Given the description of an element on the screen output the (x, y) to click on. 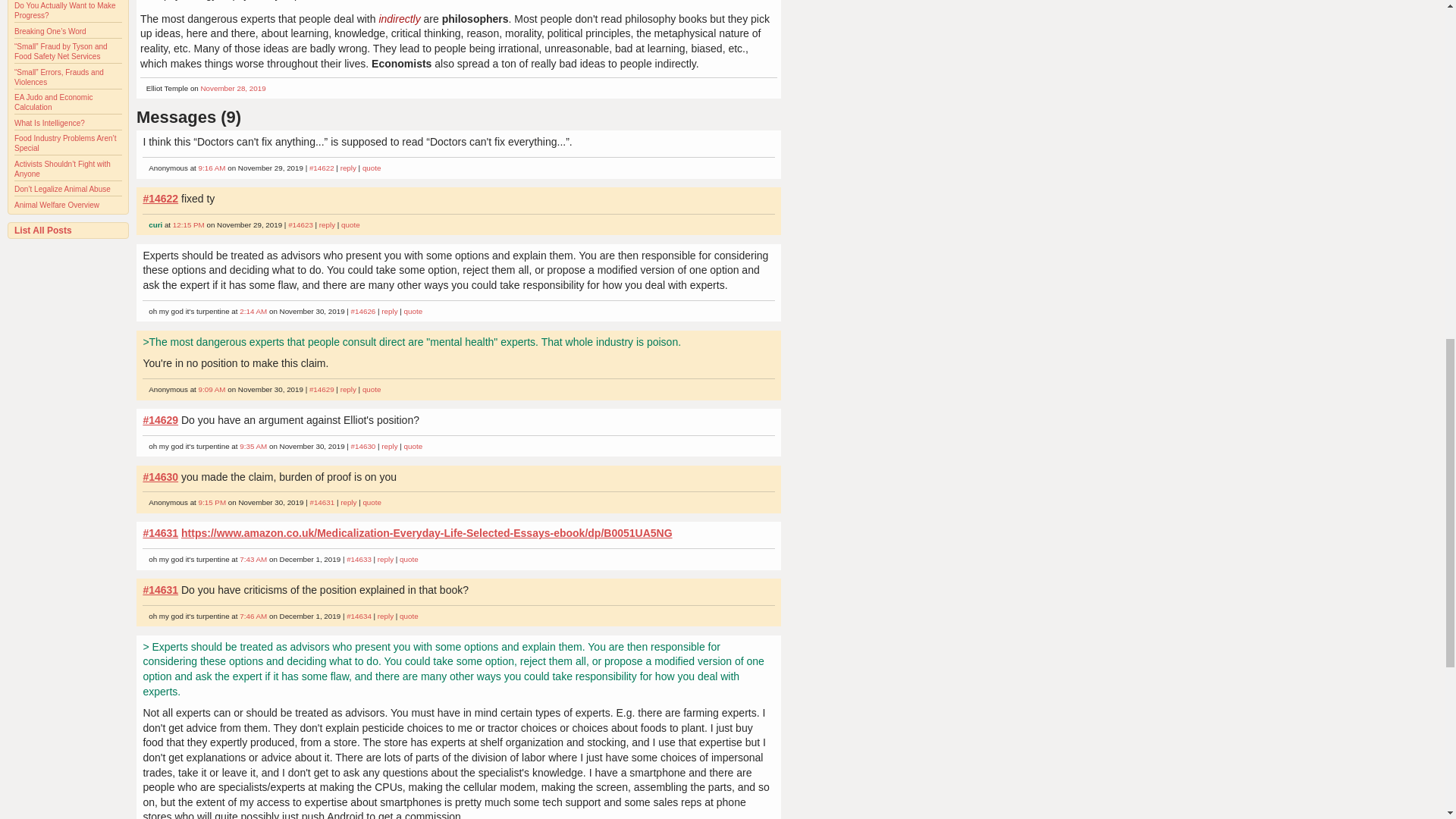
EA Judo and Economic Calculation (53, 102)
What Is Intelligence? (49, 122)
Do You Actually Want to Make Progress? (65, 10)
